Given the description of an element on the screen output the (x, y) to click on. 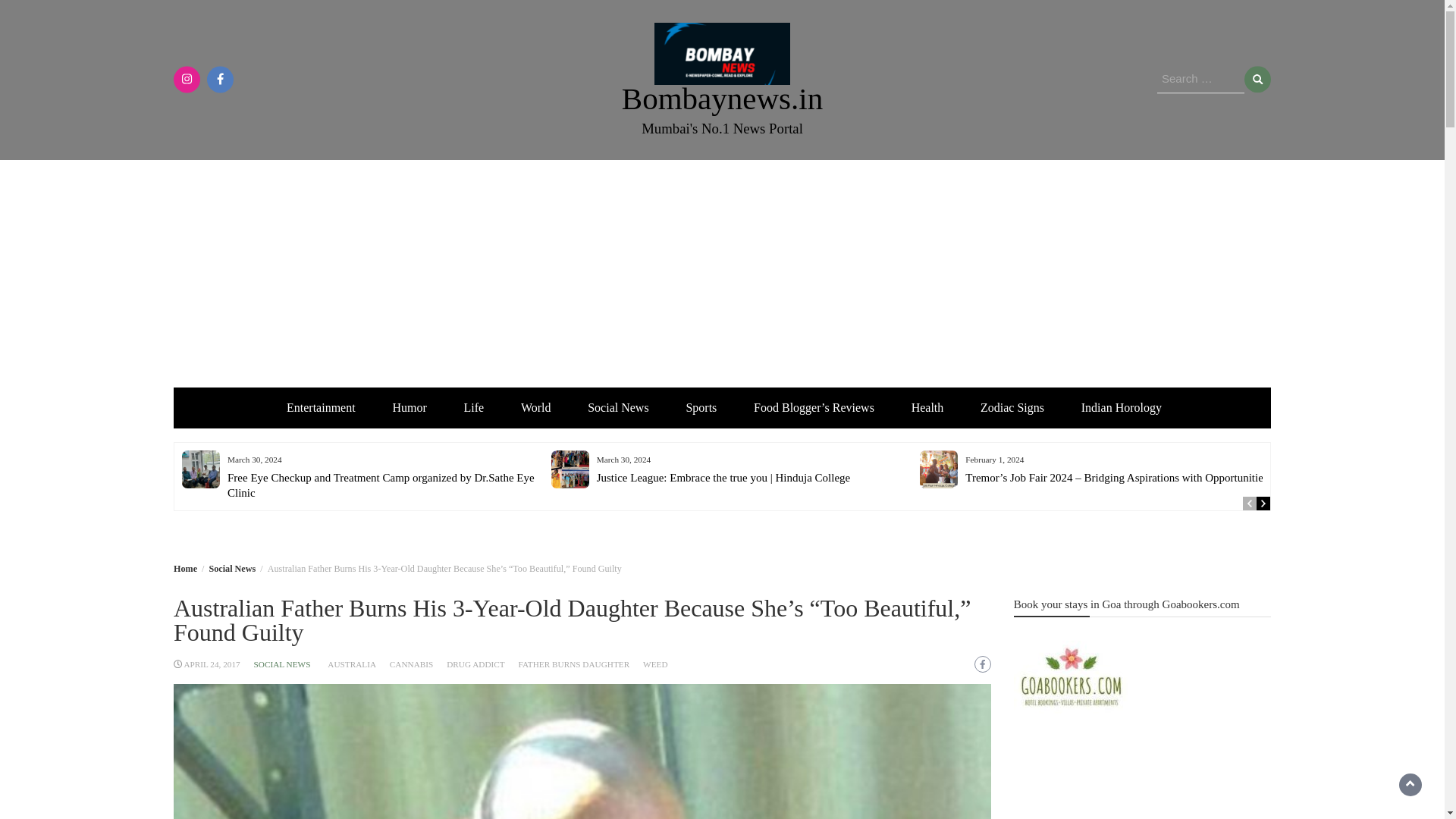
Life (473, 406)
Bombaynews.in (721, 98)
Home (184, 567)
World (535, 406)
WEED (655, 664)
Search for: (1200, 80)
SOCIAL NEWS (282, 664)
AUSTRALIA (351, 664)
Entertainment (320, 406)
APRIL 24, 2017 (211, 664)
